Given the description of an element on the screen output the (x, y) to click on. 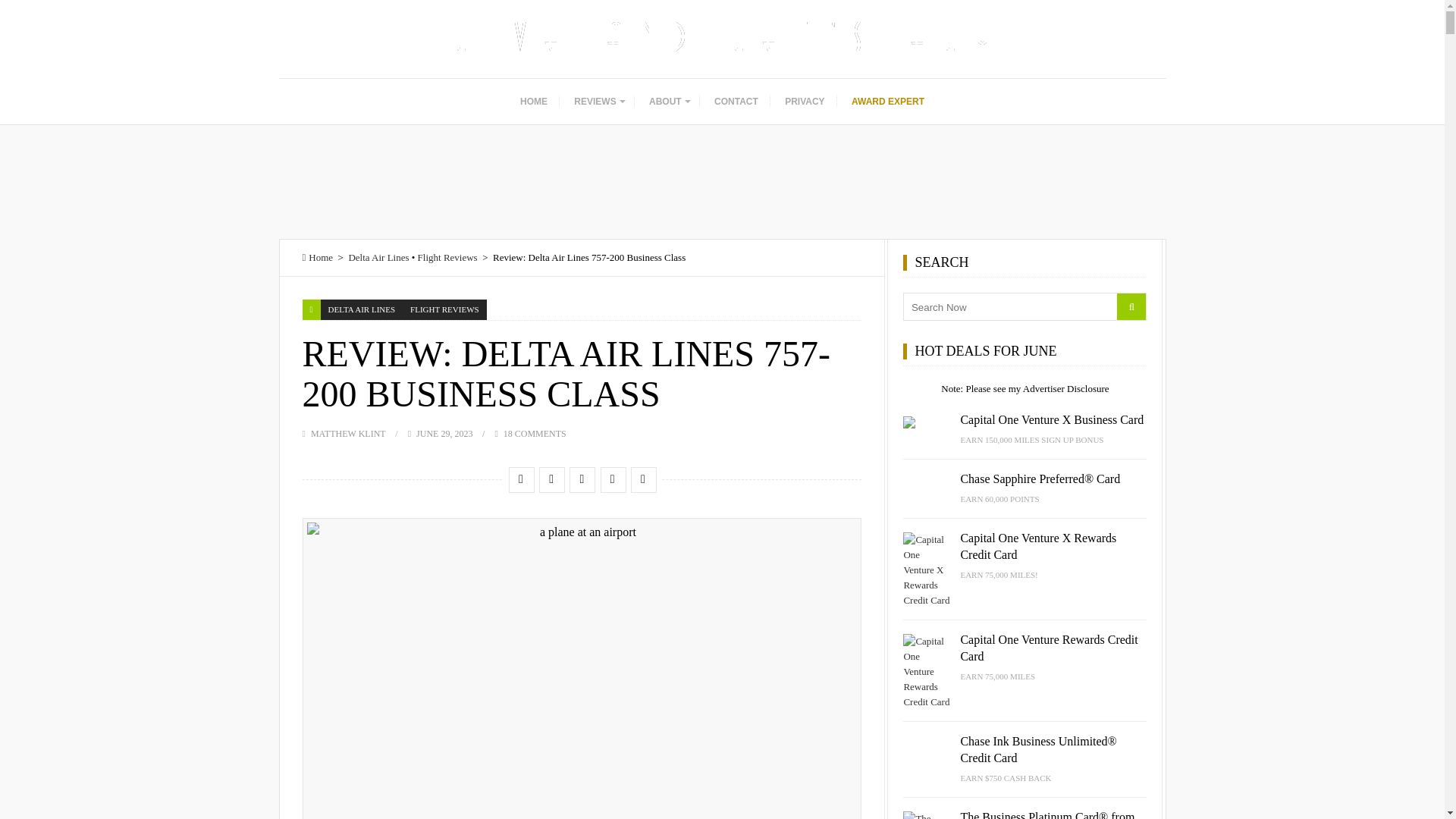
View all posts in Delta Air Lines (361, 309)
View all posts in Flight Reviews (444, 309)
AWARD EXPERT (888, 101)
CONTACT (735, 101)
DELTA AIR LINES (361, 309)
Share on Reddit (611, 478)
Share on StumbleUpon (581, 478)
FLIGHT REVIEWS (444, 309)
Share on Twitter (550, 478)
Delta Air Lines (378, 256)
